Given the description of an element on the screen output the (x, y) to click on. 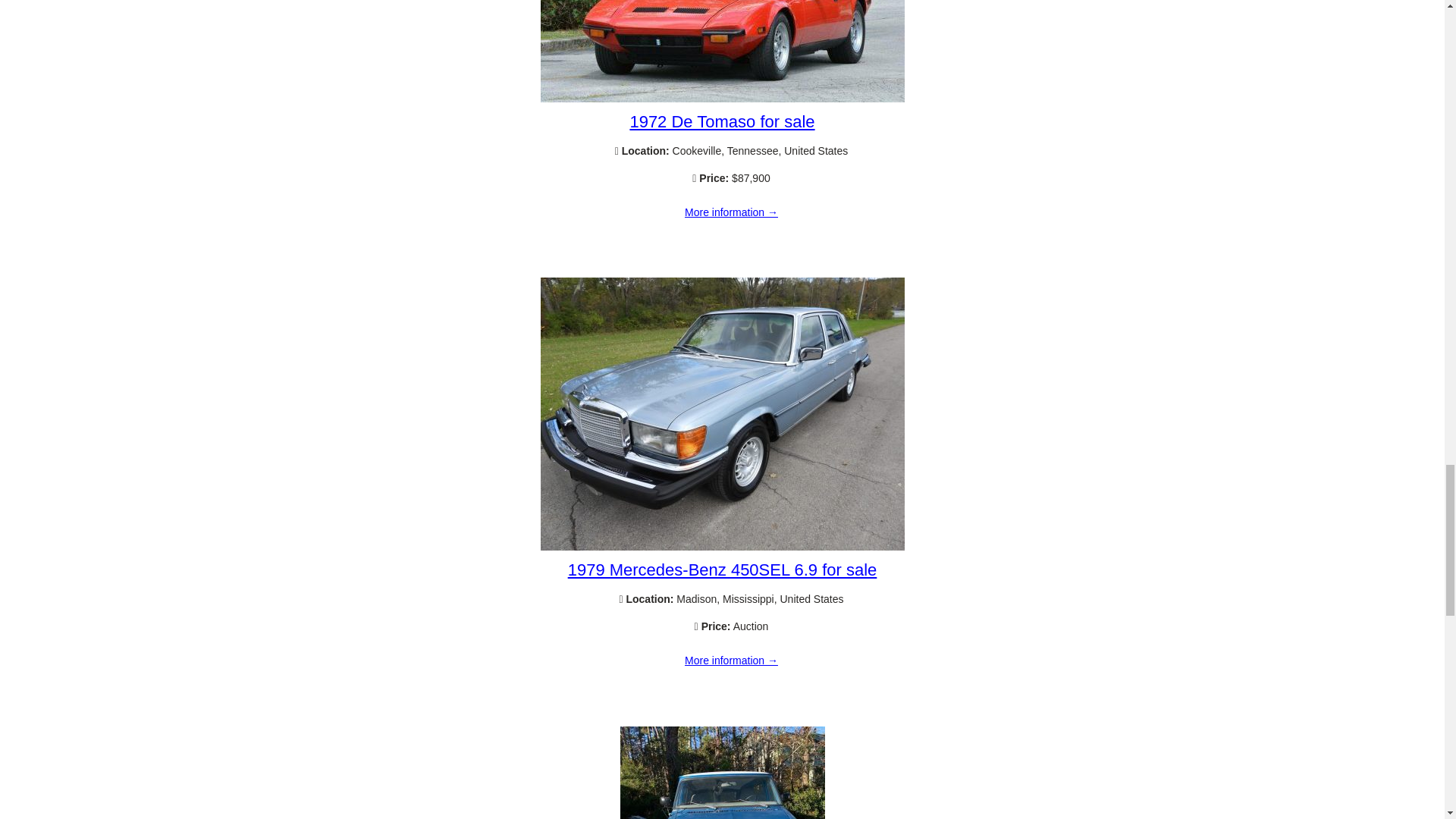
1972 De Tomaso for sale (720, 121)
1972 De Tomaso for sale (722, 98)
1972 De Tomaso for sale (731, 213)
1979 Mercedes-Benz 450SEL 6.9 for sale (722, 546)
1979 Mercedes-Benz 450SEL 6.9 for sale (731, 661)
1979 Mercedes-Benz 450SEL 6.9 for sale (722, 569)
